Given the description of an element on the screen output the (x, y) to click on. 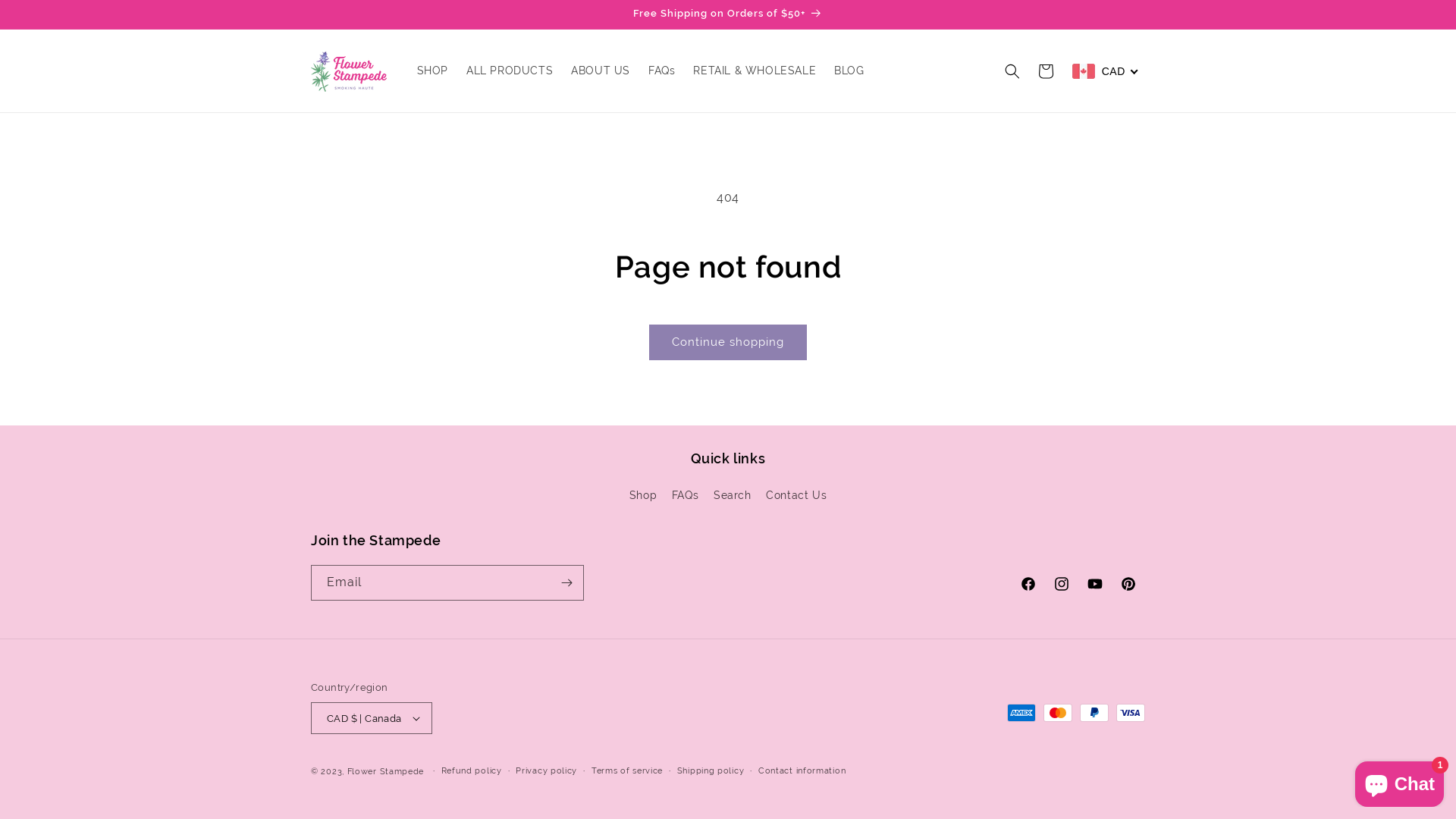
Contact information Element type: text (801, 771)
Free Shipping on Orders of $50+ Element type: text (727, 14)
Instagram Element type: text (1061, 583)
CAD $ | Canada Element type: text (371, 718)
Terms of service Element type: text (626, 771)
Contact Us Element type: text (795, 495)
FAQs Element type: text (661, 70)
RETAIL & WHOLESALE Element type: text (754, 70)
ALL PRODUCTS Element type: text (509, 70)
Shopify online store chat Element type: hover (1399, 780)
YouTube Element type: text (1094, 583)
Search Element type: text (732, 495)
Shop Element type: text (642, 497)
Cart Element type: text (1045, 70)
BLOG Element type: text (848, 70)
SHOP Element type: text (432, 70)
Facebook Element type: text (1027, 583)
Refund policy Element type: text (471, 771)
Privacy policy Element type: text (546, 771)
FAQs Element type: text (684, 495)
ABOUT US Element type: text (600, 70)
Pinterest Element type: text (1128, 583)
Flower Stampede Element type: text (385, 771)
Shipping policy Element type: text (710, 771)
Continue shopping Element type: text (727, 342)
